Given the description of an element on the screen output the (x, y) to click on. 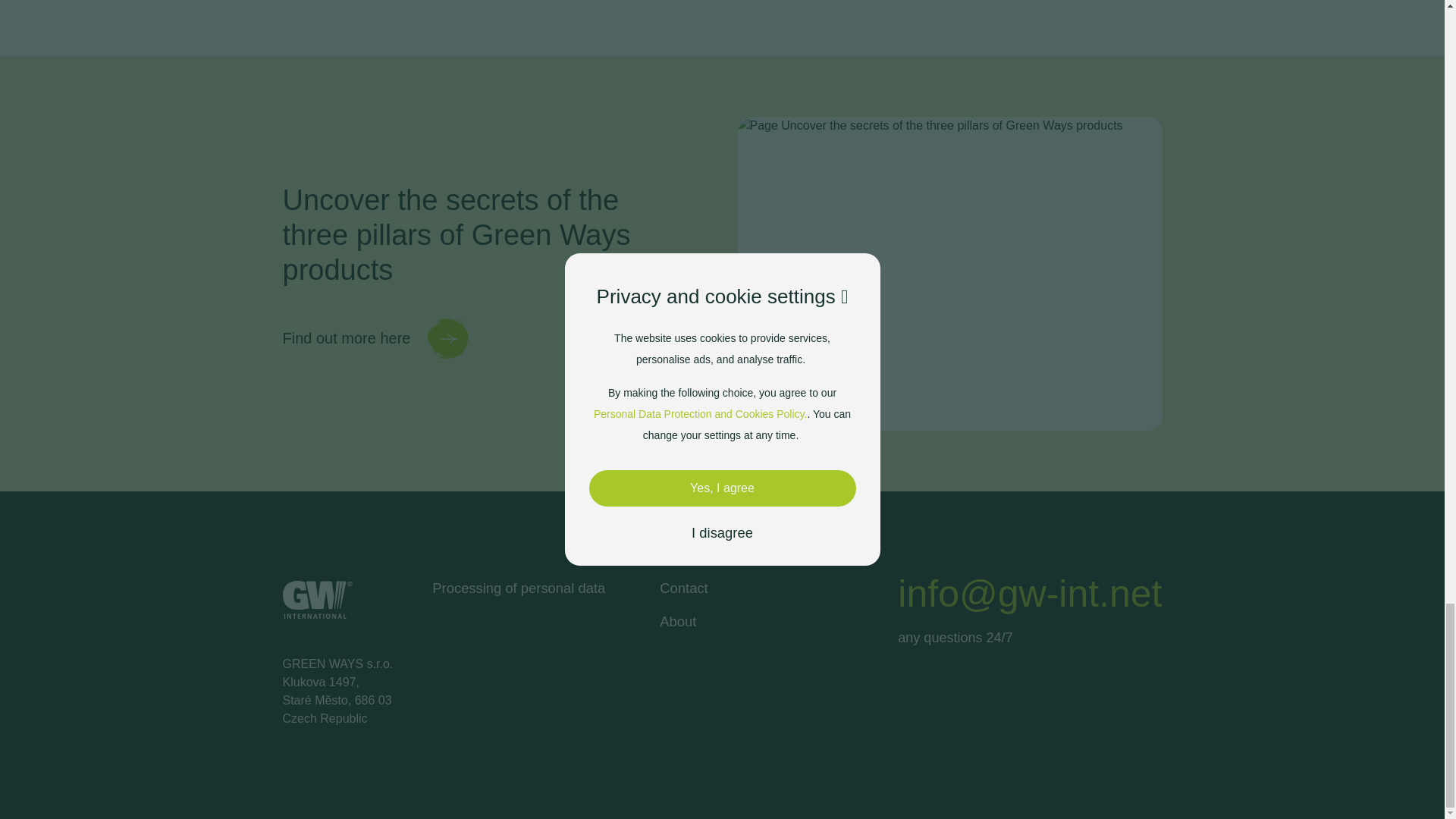
About (677, 621)
Find out more here (378, 338)
Contact (683, 588)
Processing of personal data (518, 588)
